Given the description of an element on the screen output the (x, y) to click on. 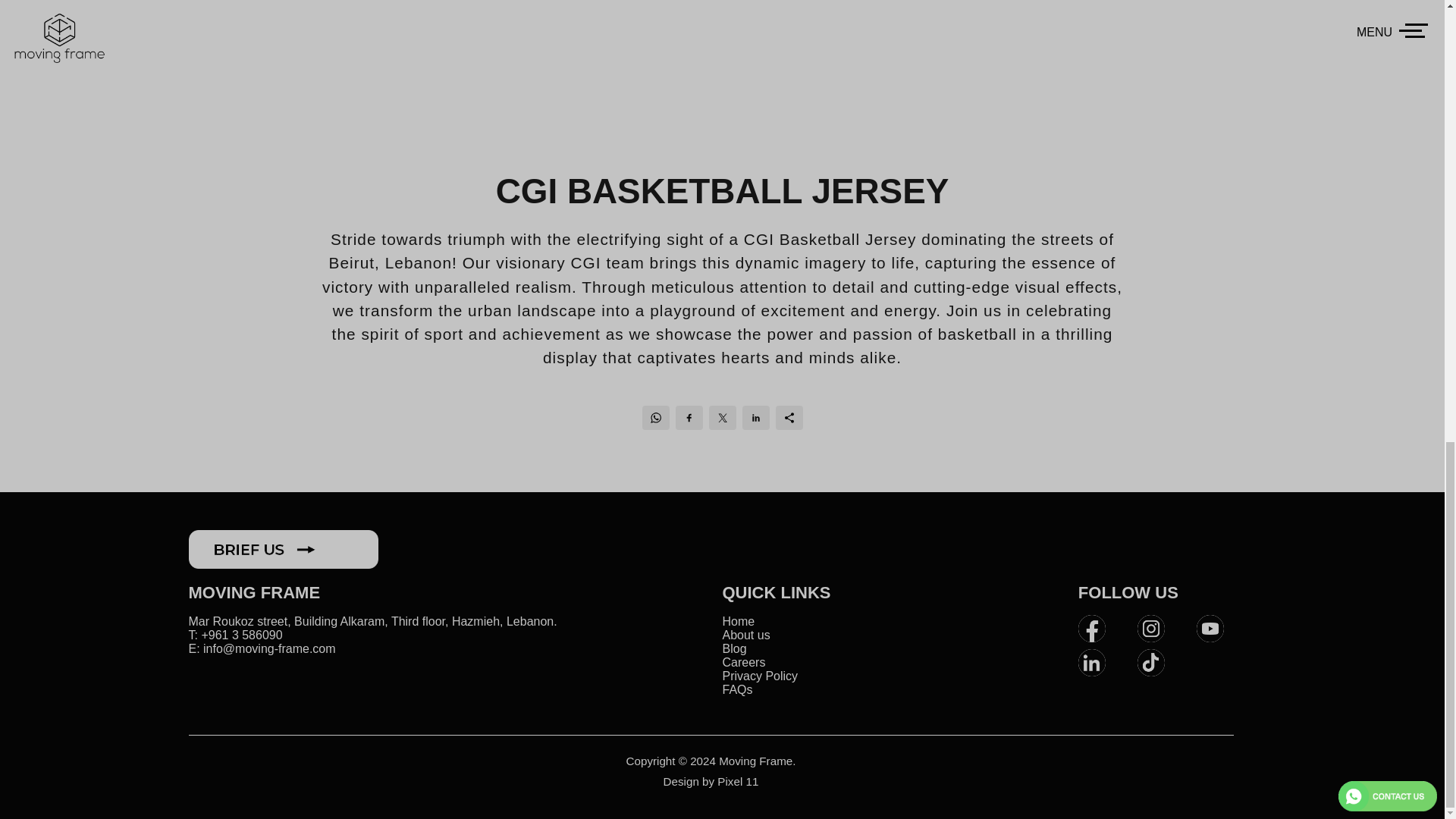
Privacy Policy (759, 675)
Careers (743, 662)
Blog (733, 648)
About us (746, 634)
FAQs (737, 689)
Home (738, 621)
